Given the description of an element on the screen output the (x, y) to click on. 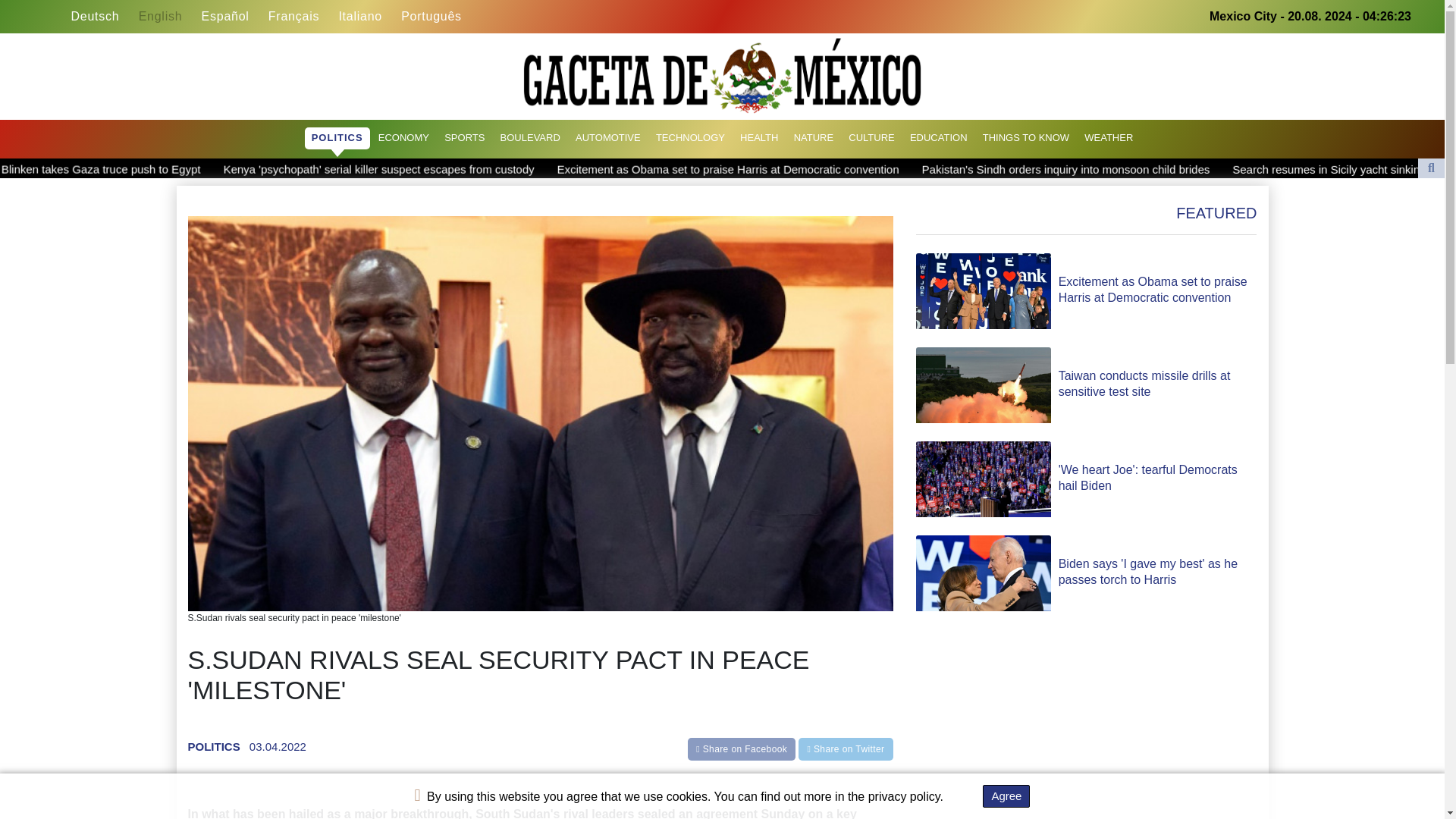
WEATHER (1108, 138)
ECONOMY (403, 138)
Agree (1005, 795)
Blinken takes Gaza truce push to Egypt (100, 168)
POLITICS (336, 138)
CULTURE (871, 138)
EDUCATION (938, 138)
AUTOMOTIVE (608, 138)
TECHNOLOGY (690, 138)
